Given the description of an element on the screen output the (x, y) to click on. 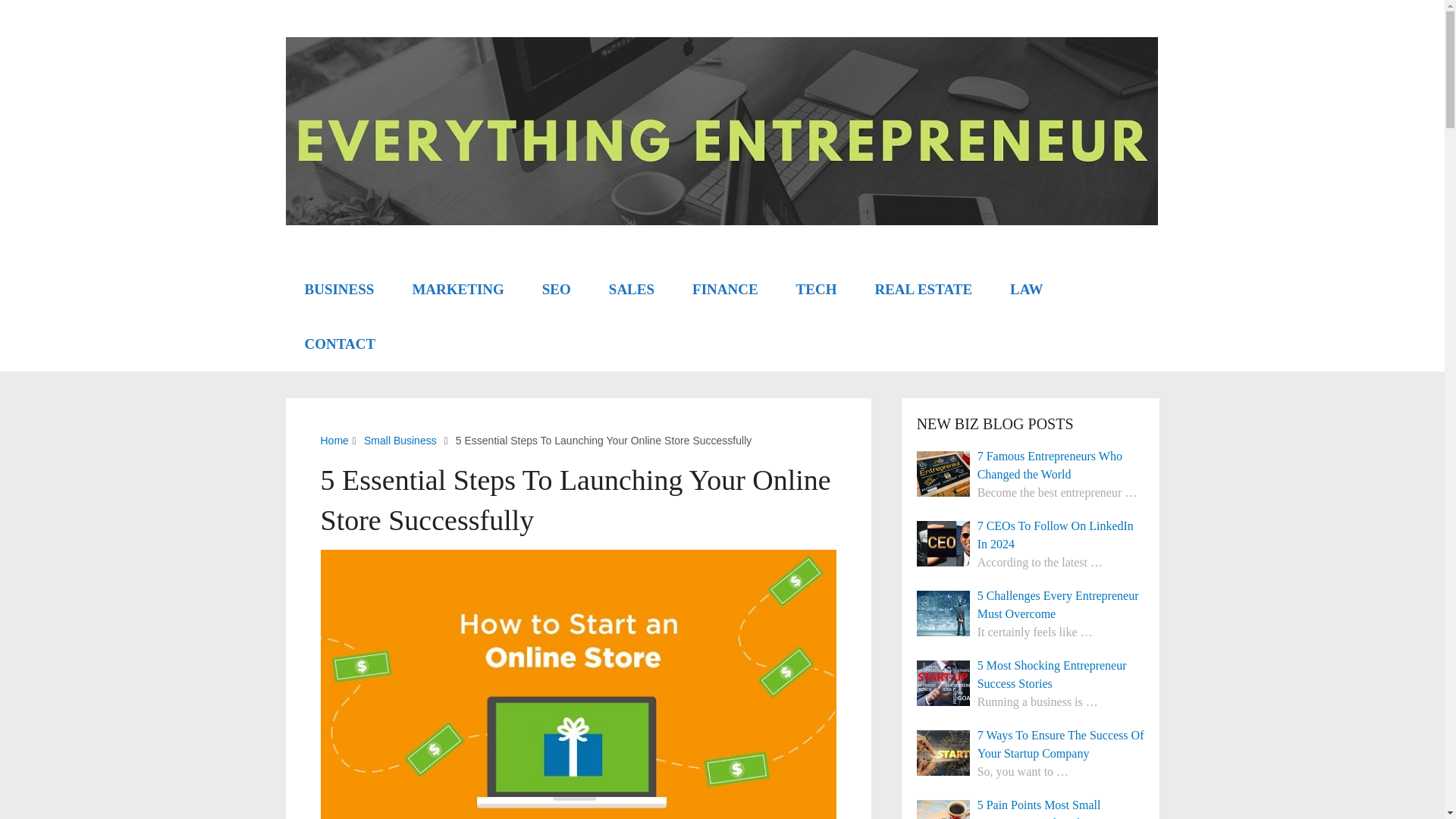
REAL ESTATE (923, 289)
SEO (555, 289)
Small Business (400, 440)
BUSINESS (339, 289)
5 Pain Points Most Small Businesses Deal With (1030, 807)
CONTACT (339, 343)
FINANCE (724, 289)
7 Famous Entrepreneurs Who Changed the World (1030, 465)
7 Famous Entrepreneurs Who Changed the World (1030, 465)
Home (333, 440)
LAW (1026, 289)
5 Most Shocking Entrepreneur Success Stories (1030, 674)
MARKETING (457, 289)
TECH (816, 289)
